Given the description of an element on the screen output the (x, y) to click on. 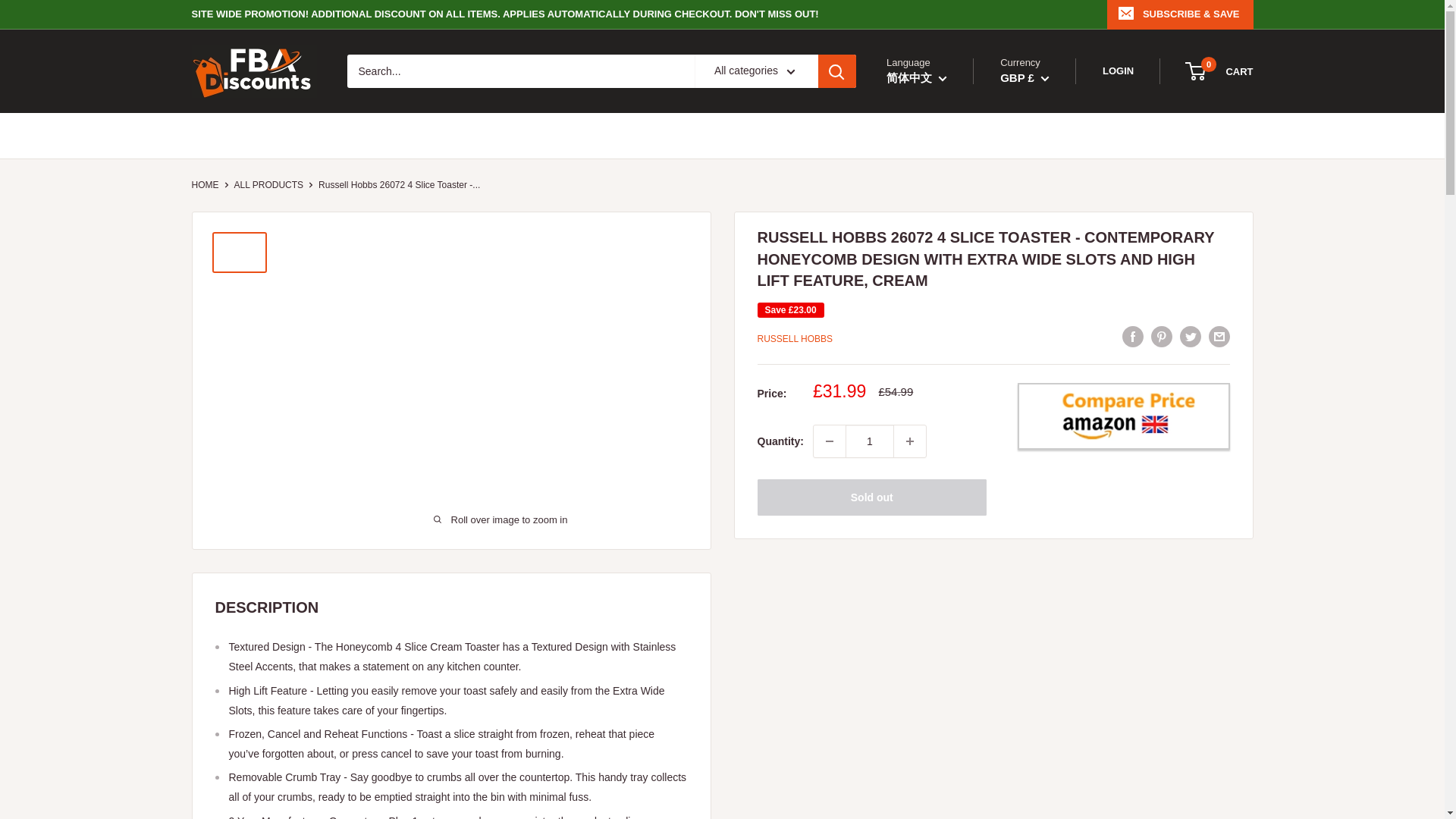
Increase quantity by 1 (909, 441)
EUR (1035, 115)
LOGIN (1118, 71)
en (932, 115)
HOME (204, 184)
zh-CN (932, 134)
FBA DISCOUNTS (252, 71)
1 (869, 441)
ALL PRODUCTS (267, 184)
